Given the description of an element on the screen output the (x, y) to click on. 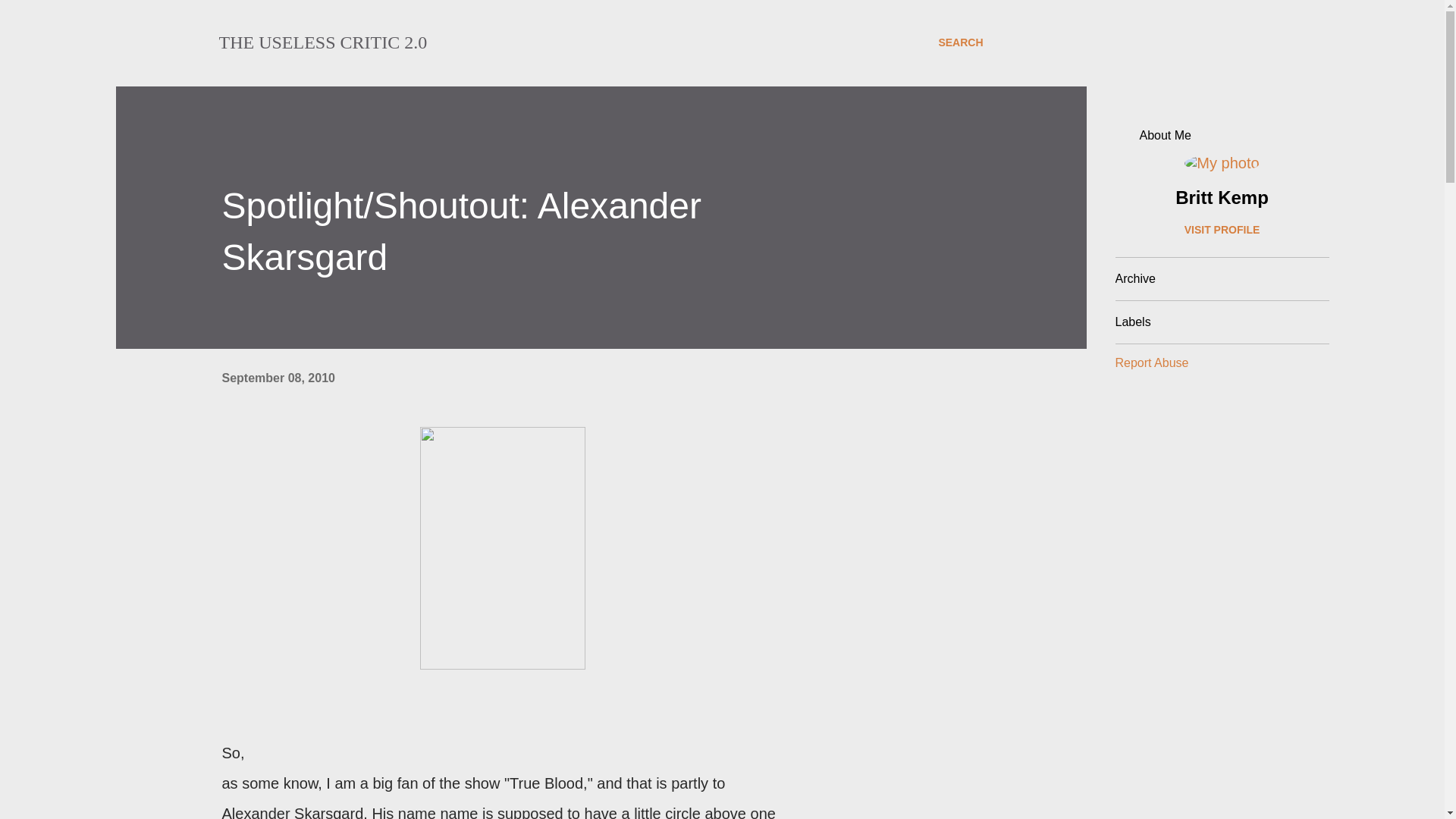
SEARCH (959, 42)
permanent link (277, 377)
THE USELESS CRITIC 2.0 (322, 42)
September 08, 2010 (277, 377)
